Given the description of an element on the screen output the (x, y) to click on. 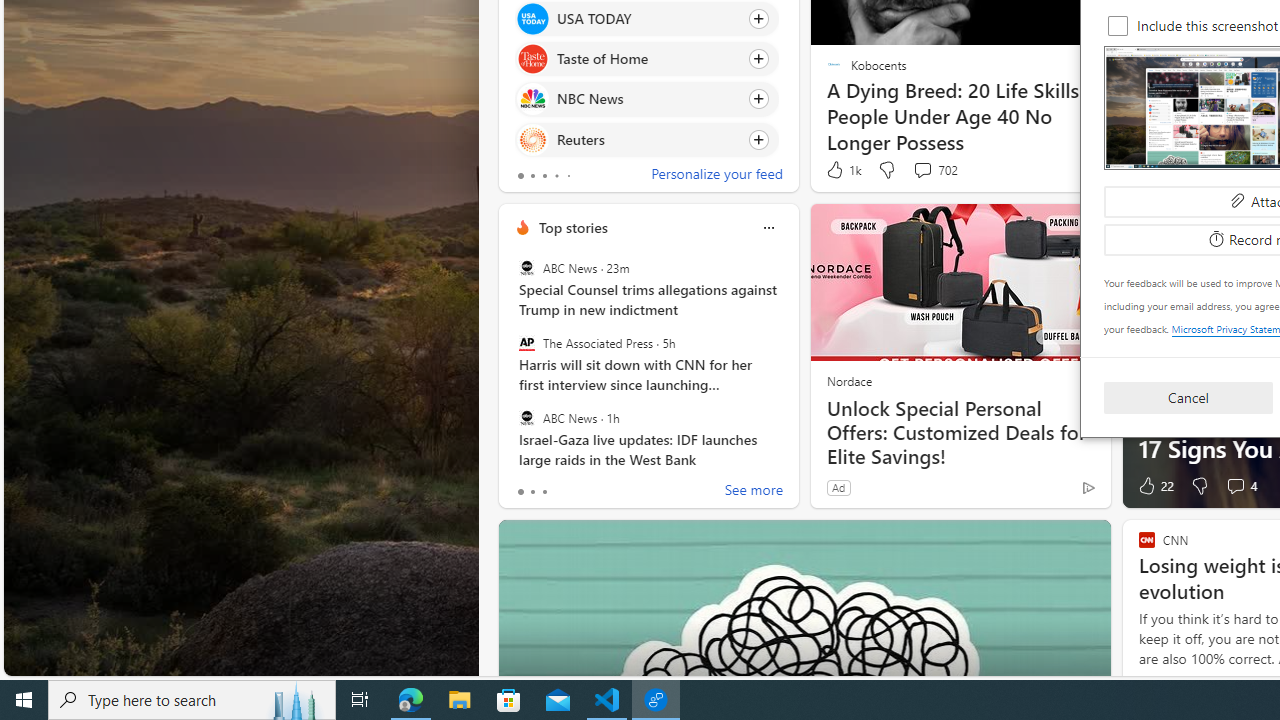
View comments 4 Comment (1234, 485)
Microsoft Store (509, 699)
View comments 702 Comment (922, 169)
Taste of Home (532, 59)
Click to follow source Taste of Home (646, 59)
Visual Studio Code - 1 running window (607, 699)
Personalize your feed (716, 175)
tab-1 (532, 491)
The Associated Press (526, 343)
Reuters (532, 139)
tab-0 (520, 491)
Type here to search (191, 699)
